Given the description of an element on the screen output the (x, y) to click on. 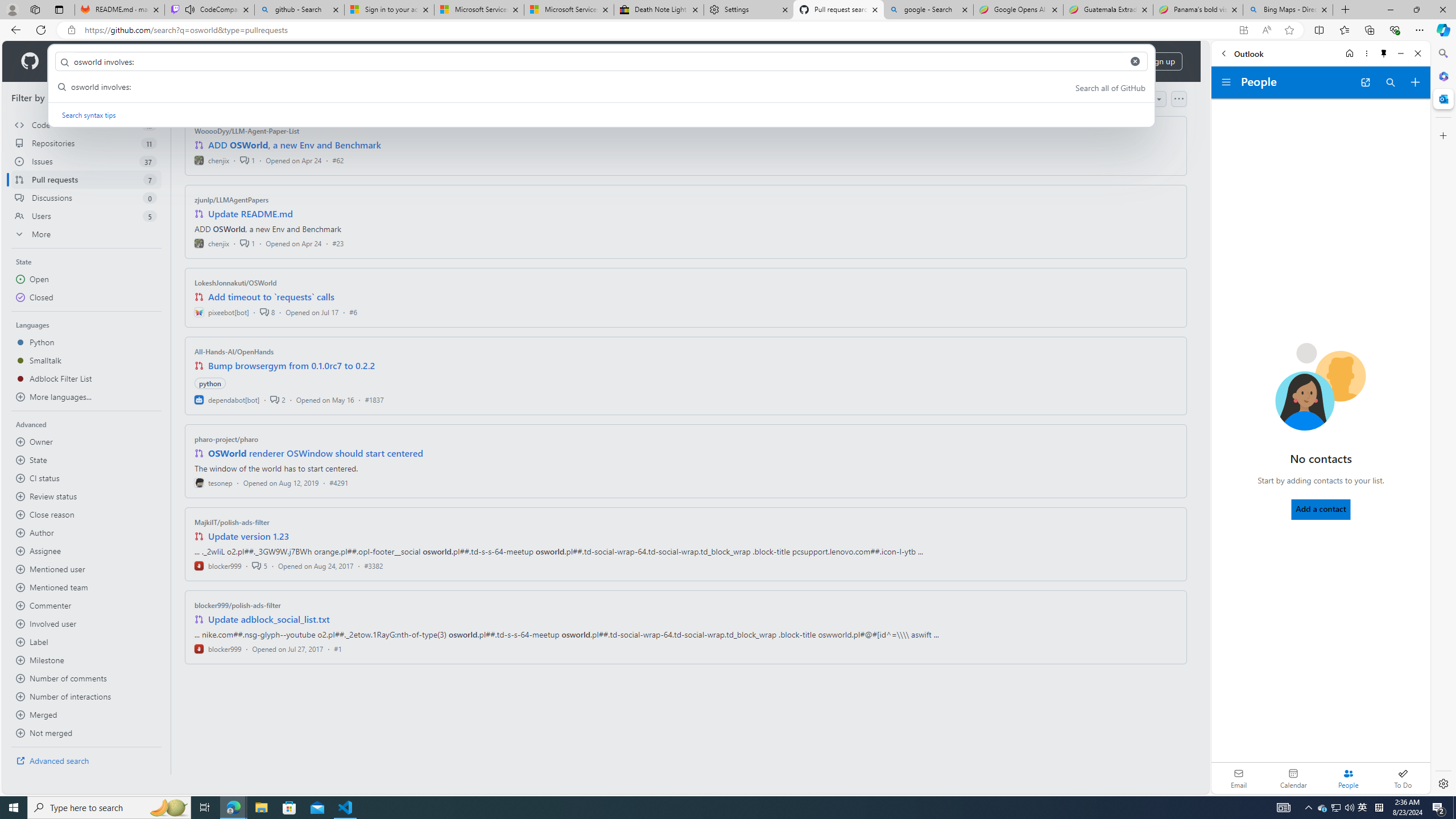
Add a contact (1321, 509)
#6 (352, 311)
Folder navigation (1225, 82)
Resources (187, 60)
Update adblock_social_list.txt (269, 619)
#4291 (338, 482)
